Given the description of an element on the screen output the (x, y) to click on. 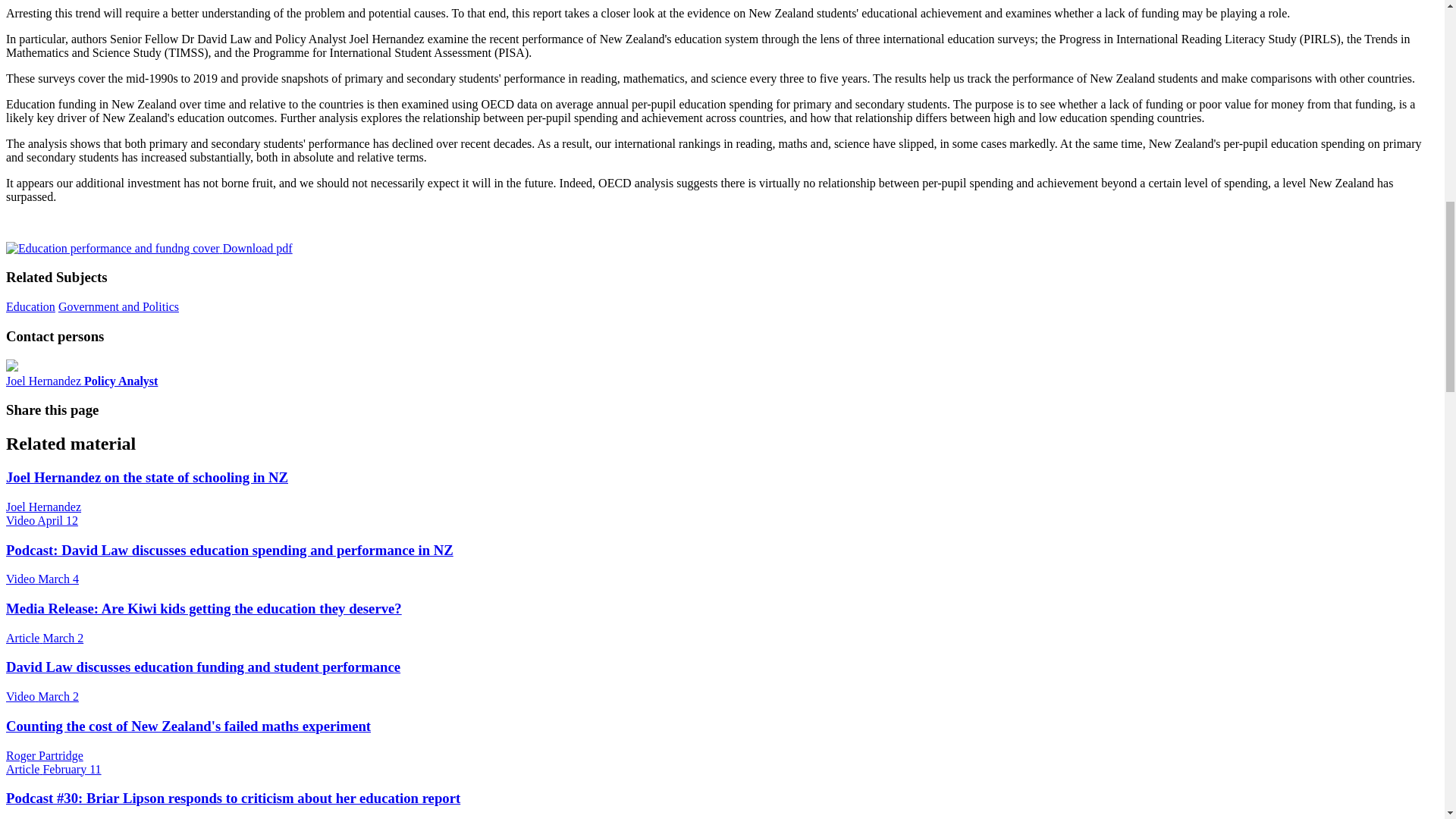
Education (30, 306)
Download pdf (148, 247)
Government and Politics (118, 306)
